Given the description of an element on the screen output the (x, y) to click on. 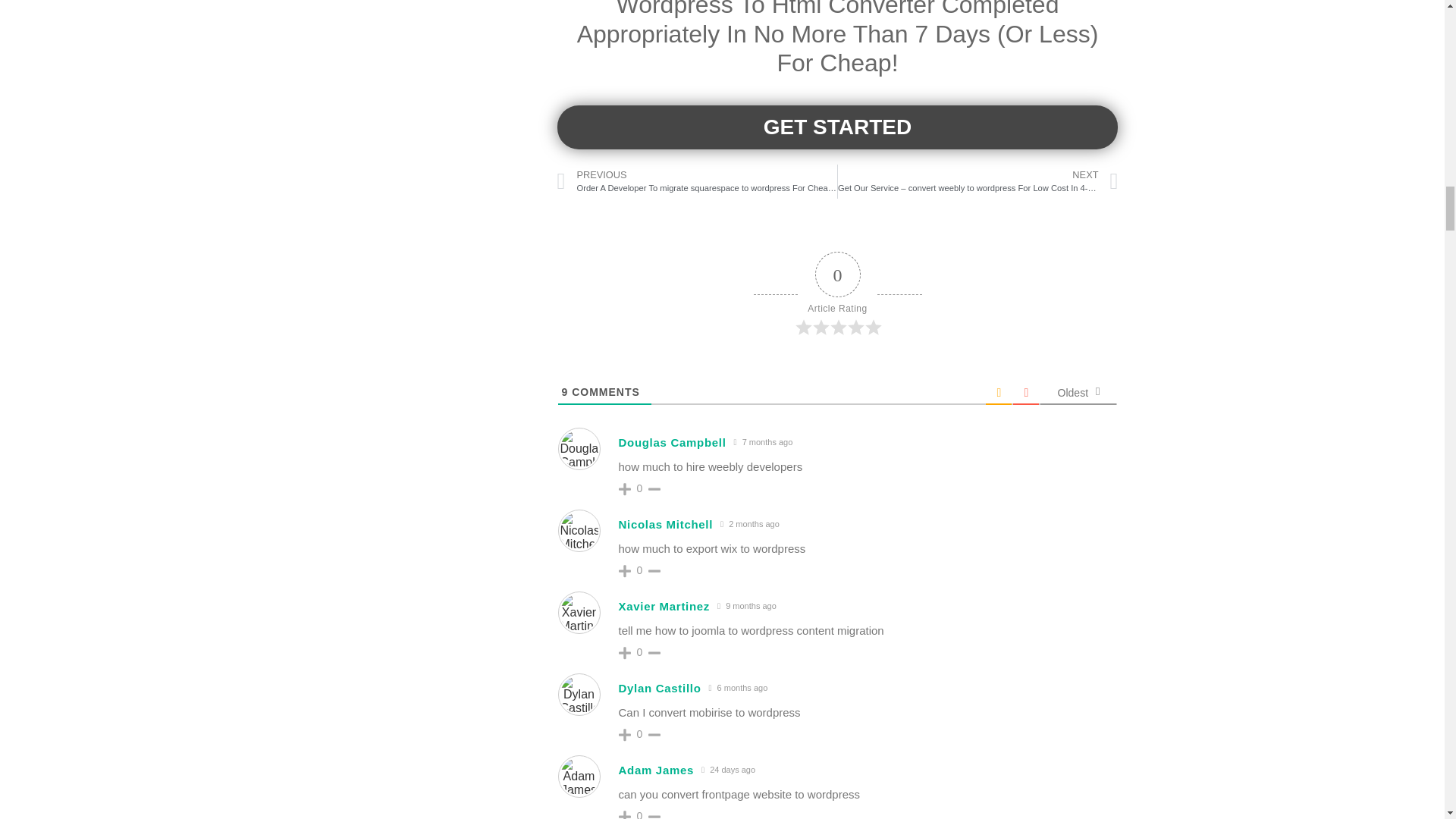
June 9, 2024 8:11 am (749, 523)
0 (639, 488)
January 9, 2024 10:42 pm (763, 441)
October 30, 2023 1:08 pm (746, 605)
0 (639, 570)
